Given the description of an element on the screen output the (x, y) to click on. 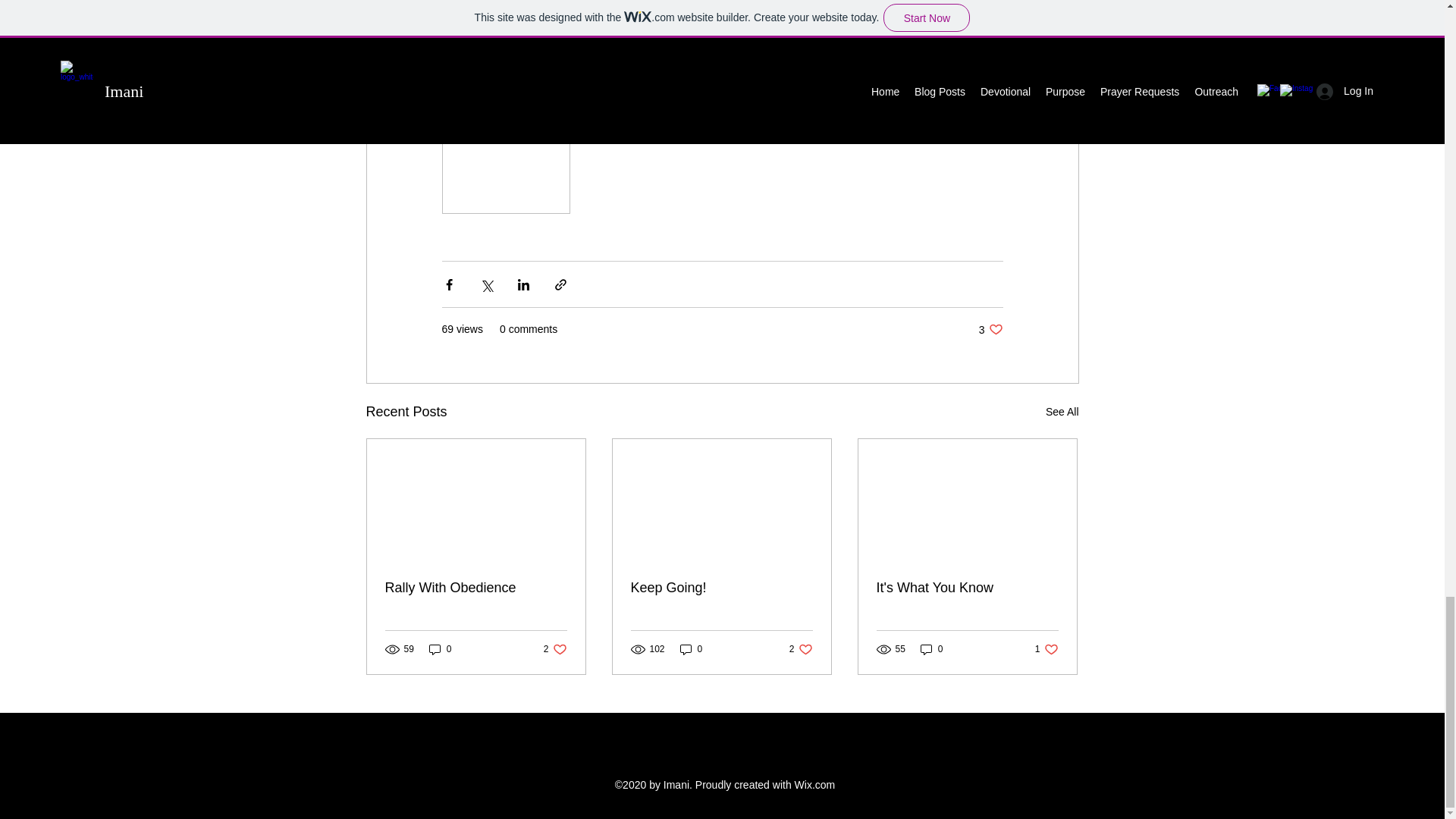
Rally With Obedience (990, 329)
See All (476, 587)
0 (1046, 649)
0 (1061, 412)
Keep Going! (691, 649)
0 (931, 649)
It's What You Know (721, 587)
